Given the description of an element on the screen output the (x, y) to click on. 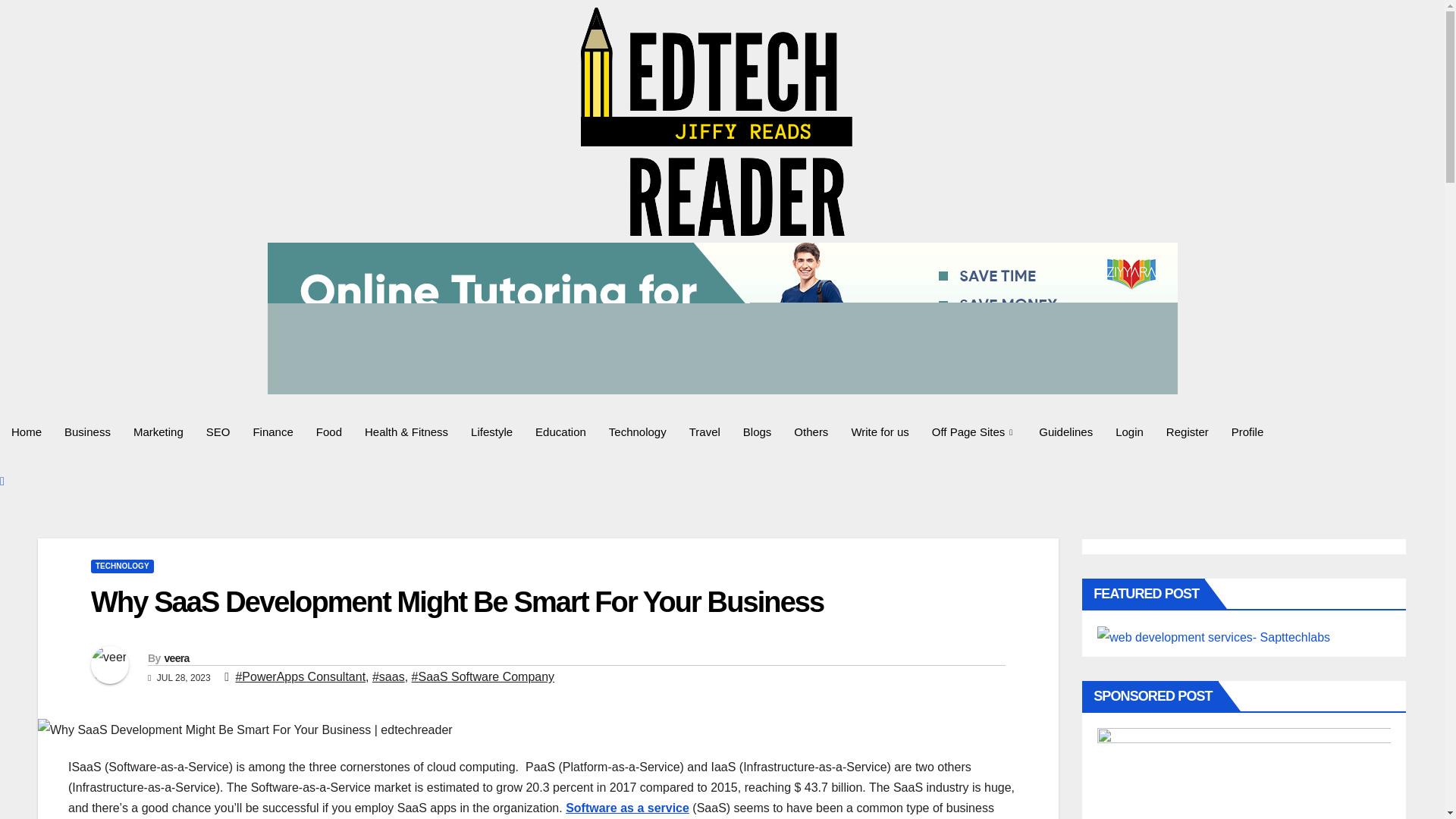
Featured Post (1213, 637)
Sponsored Post (1243, 773)
Guidelines (1065, 431)
Education (560, 431)
Off Page Sites (973, 431)
Write for us (880, 431)
Business (87, 431)
Marketing (158, 431)
Technology (637, 431)
